Given the description of an element on the screen output the (x, y) to click on. 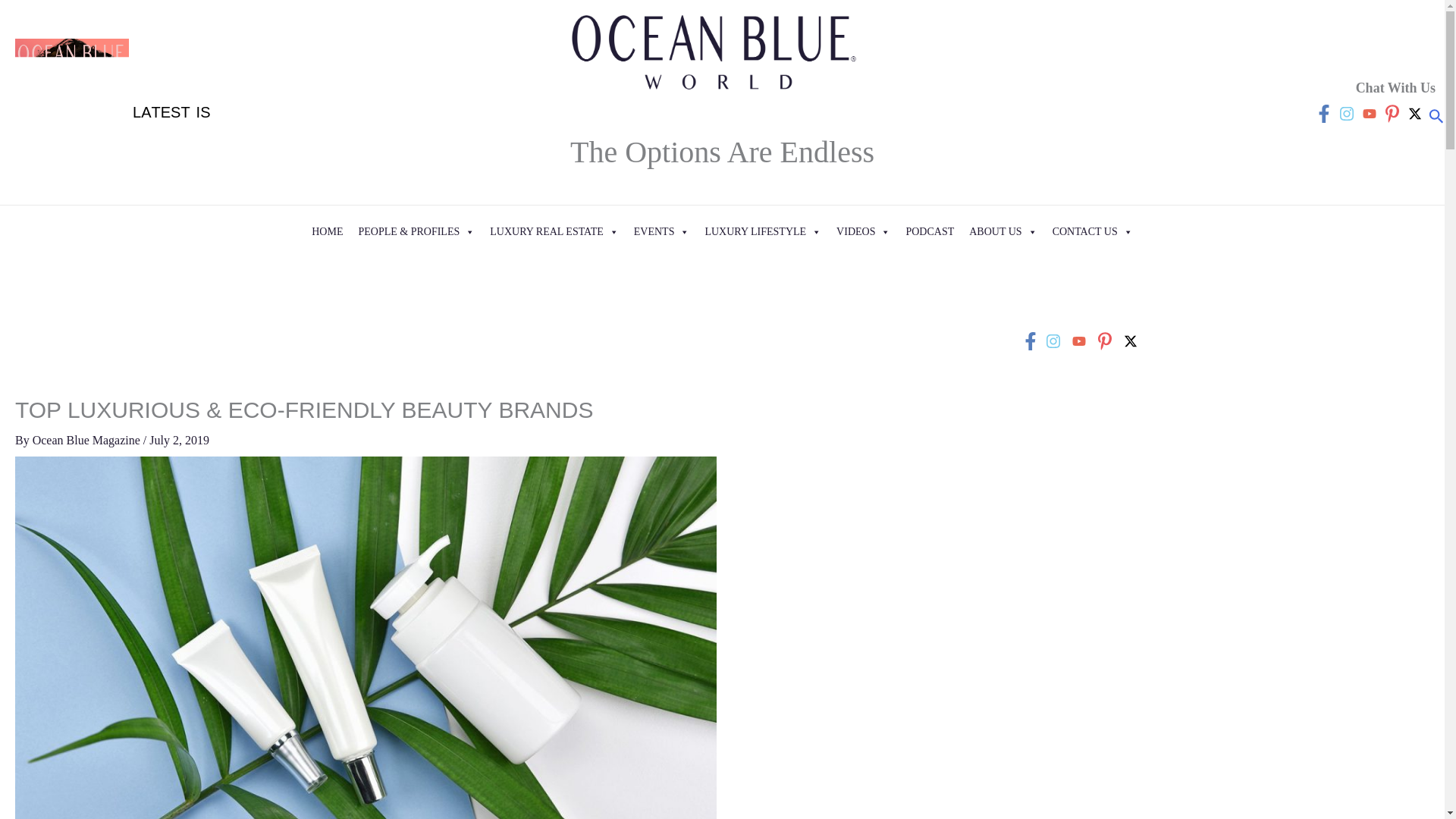
HOME (327, 232)
EVENTS (661, 232)
LUXURY REAL ESTATE (553, 232)
View all posts by Ocean Blue Magazine (87, 440)
LUXURY LIFESTYLE (762, 232)
